Given the description of an element on the screen output the (x, y) to click on. 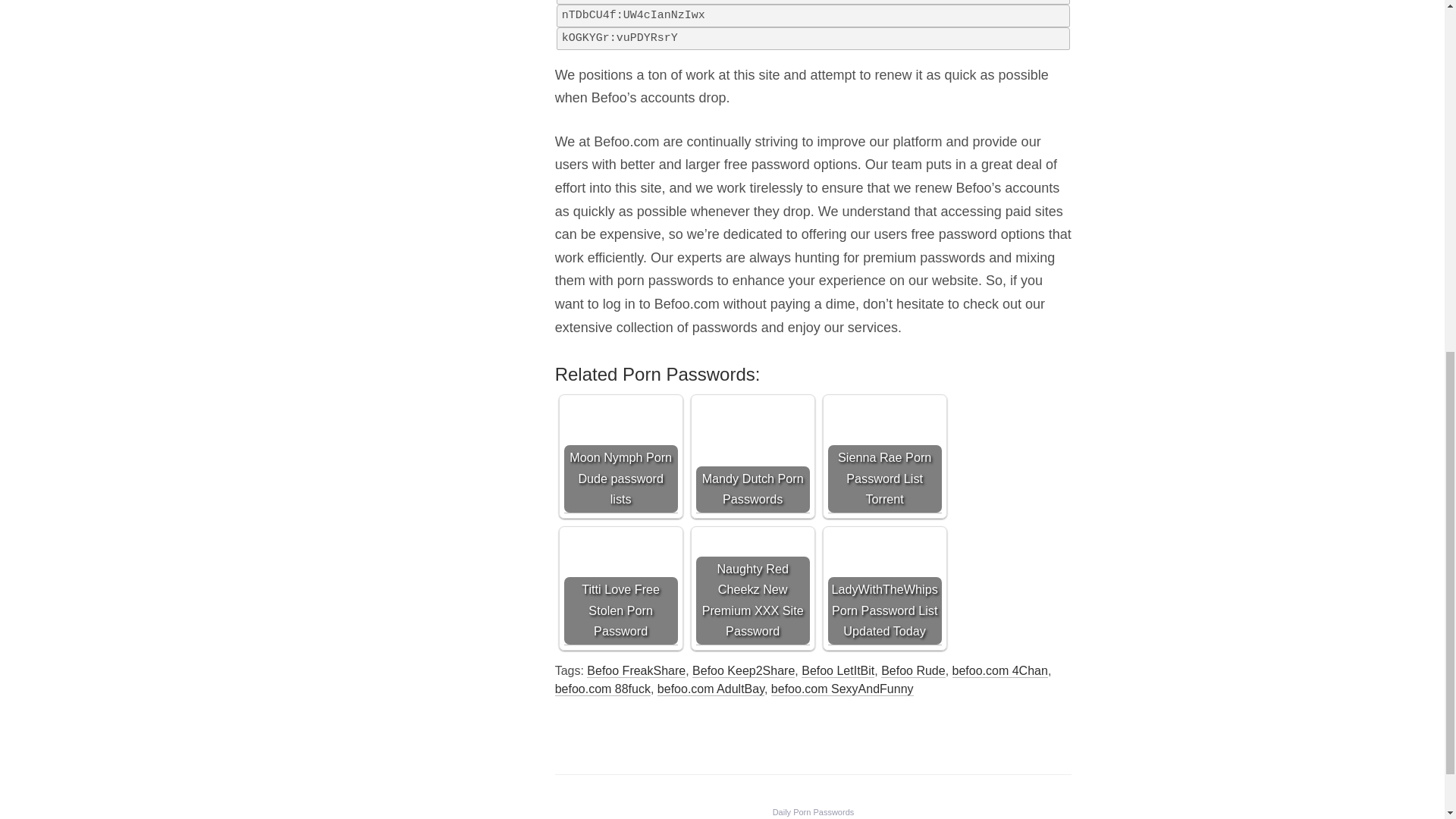
Sienna Rae Porn Password List Torrent (885, 456)
Befoo Keep2Share (743, 671)
Befoo FreakShare (635, 671)
Moon Nymph Porn Dude password lists (621, 456)
LadyWithTheWhips Porn Password List Updated Today (885, 588)
befoo.com 4Chan (1000, 671)
Mandy Dutch Porn Passwords (752, 456)
Naughty Red Cheekz New Premium XXX Site Password (752, 588)
befoo.com SexyAndFunny (842, 689)
Naughty Red Cheekz New Premium XXX Site Password (752, 588)
